Given the description of an element on the screen output the (x, y) to click on. 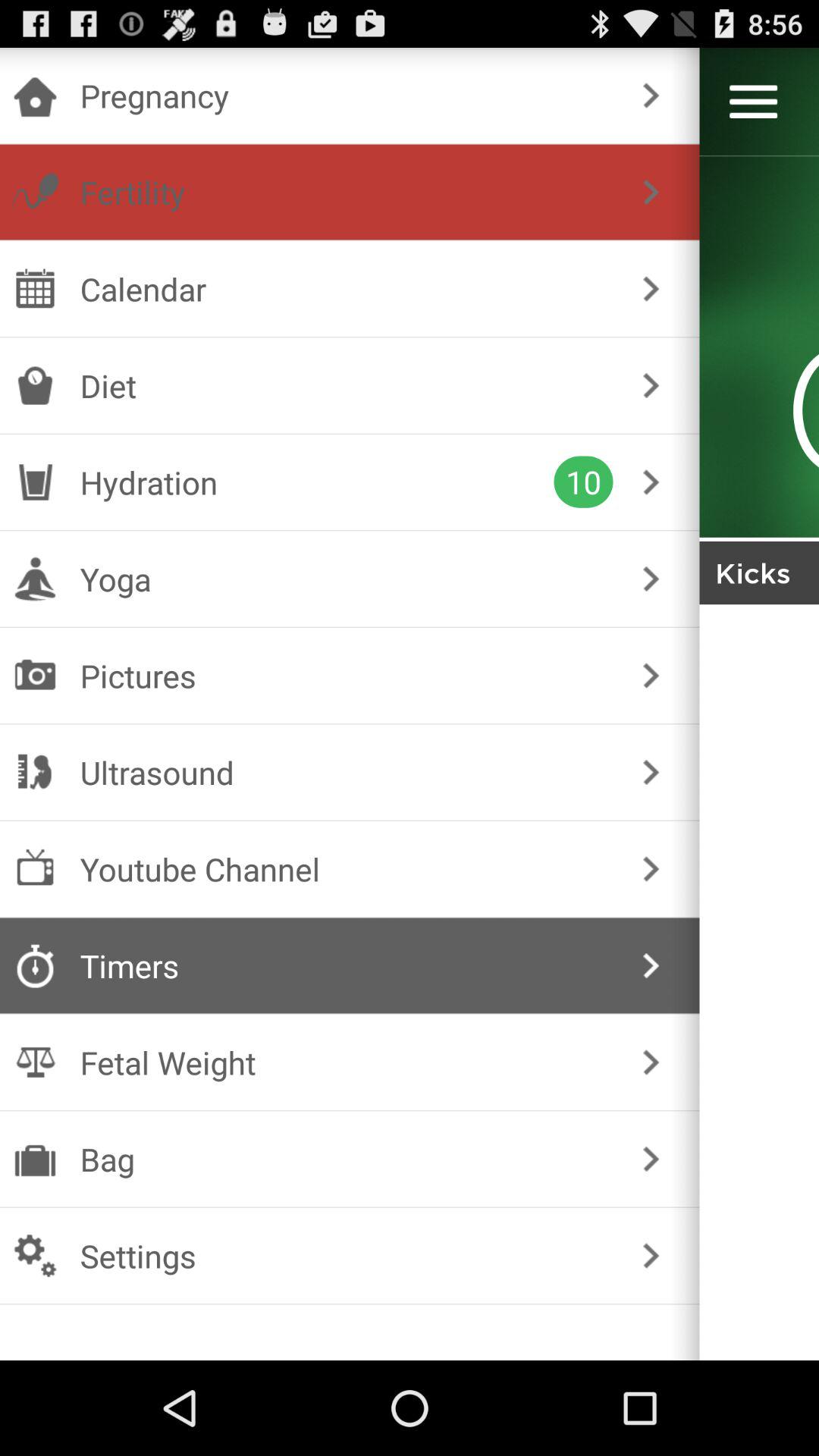
jump until the yoga checkbox (346, 578)
